Given the description of an element on the screen output the (x, y) to click on. 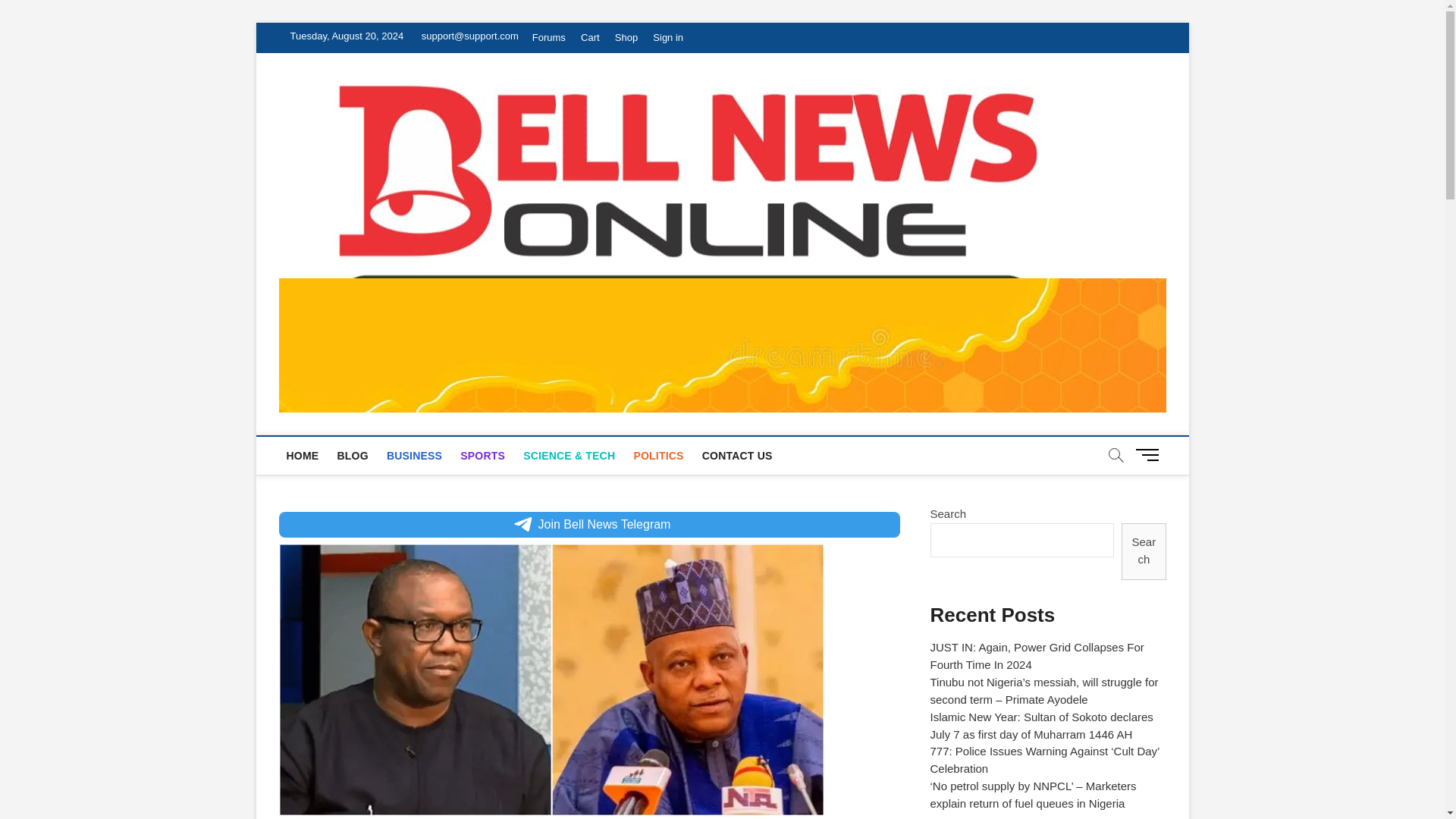
SPORTS (482, 455)
HOME (302, 455)
POLITICS (658, 455)
Menu Button (1150, 454)
Cart (590, 37)
BUSINESS (413, 455)
CONTACT US (737, 455)
BLOG (352, 455)
Forums (548, 37)
